Given the description of an element on the screen output the (x, y) to click on. 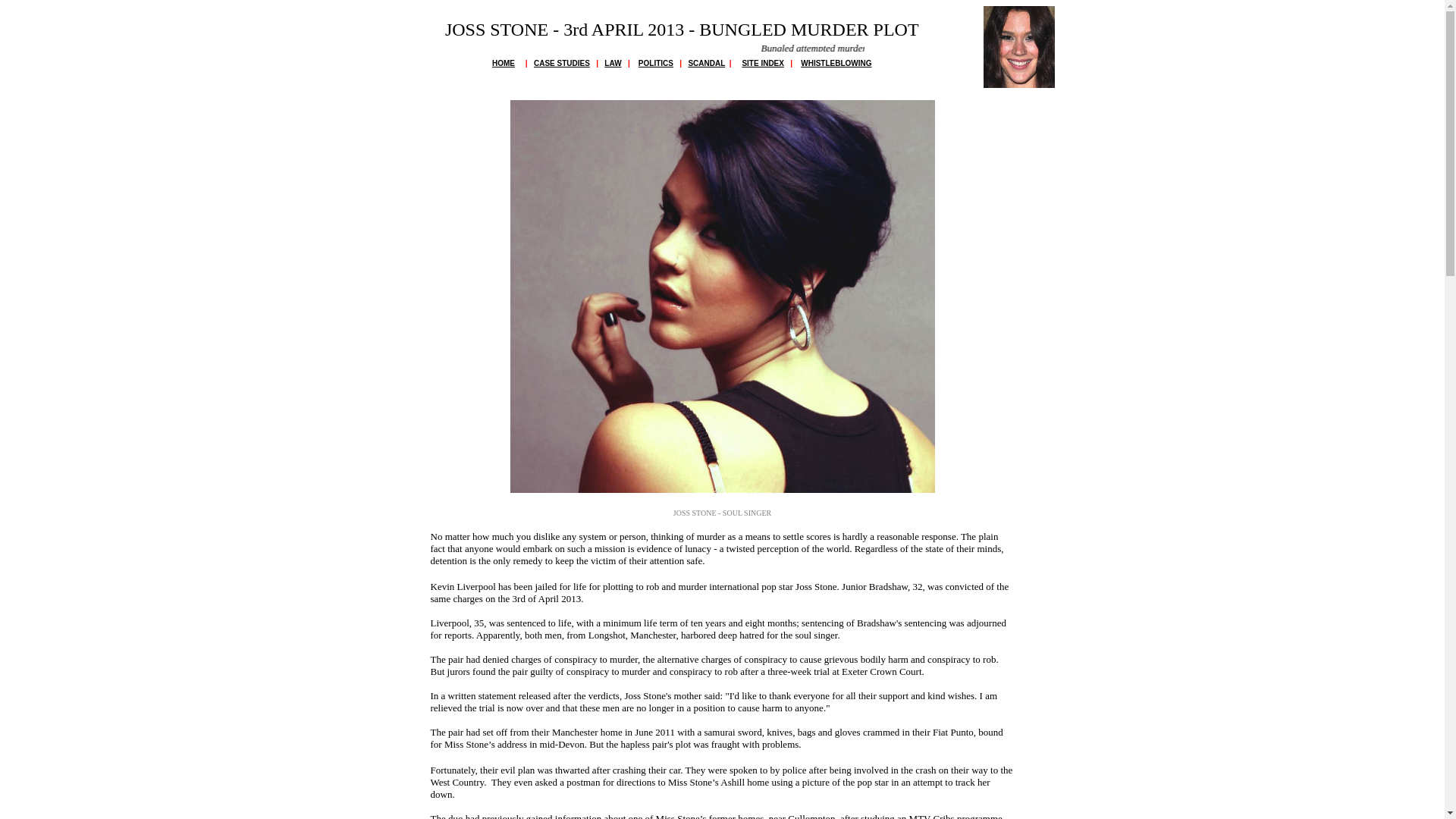
LAW (612, 62)
WHISTLEBLOWING (835, 62)
HOME (503, 62)
POLITICS (655, 62)
CASE STUDIES (561, 62)
SITE INDEX (762, 62)
SCANDAL (706, 62)
